Given the description of an element on the screen output the (x, y) to click on. 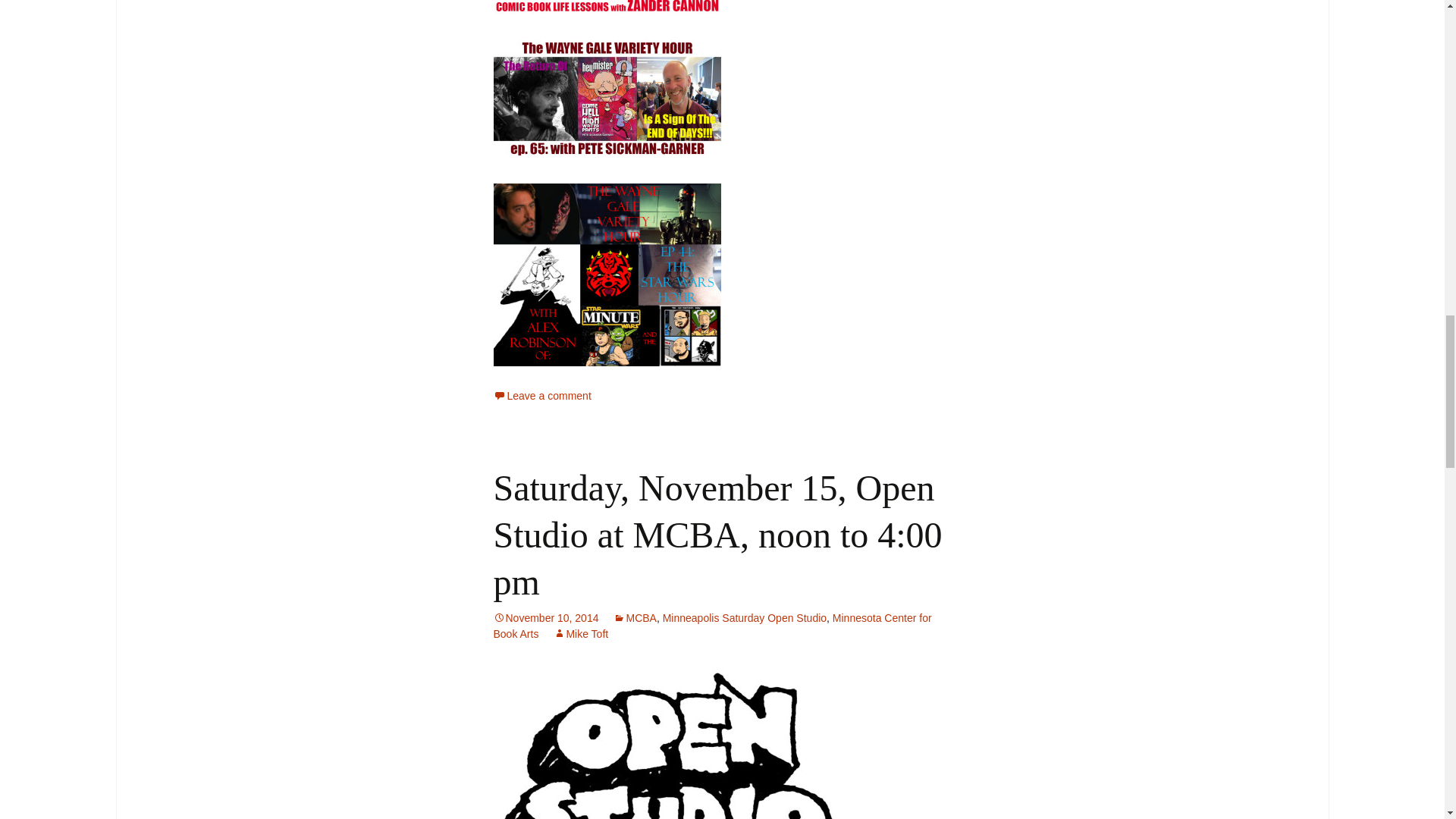
Leave a comment (542, 395)
Minneapolis Saturday Open Studio (744, 617)
Mike Toft (580, 633)
November 10, 2014 (545, 617)
Saturday, November 15, Open Studio at MCBA, noon to 4:00 pm (717, 534)
MCBA (634, 617)
View all posts by Mike Toft (580, 633)
Minnesota Center for Book Arts (712, 625)
